Given the description of an element on the screen output the (x, y) to click on. 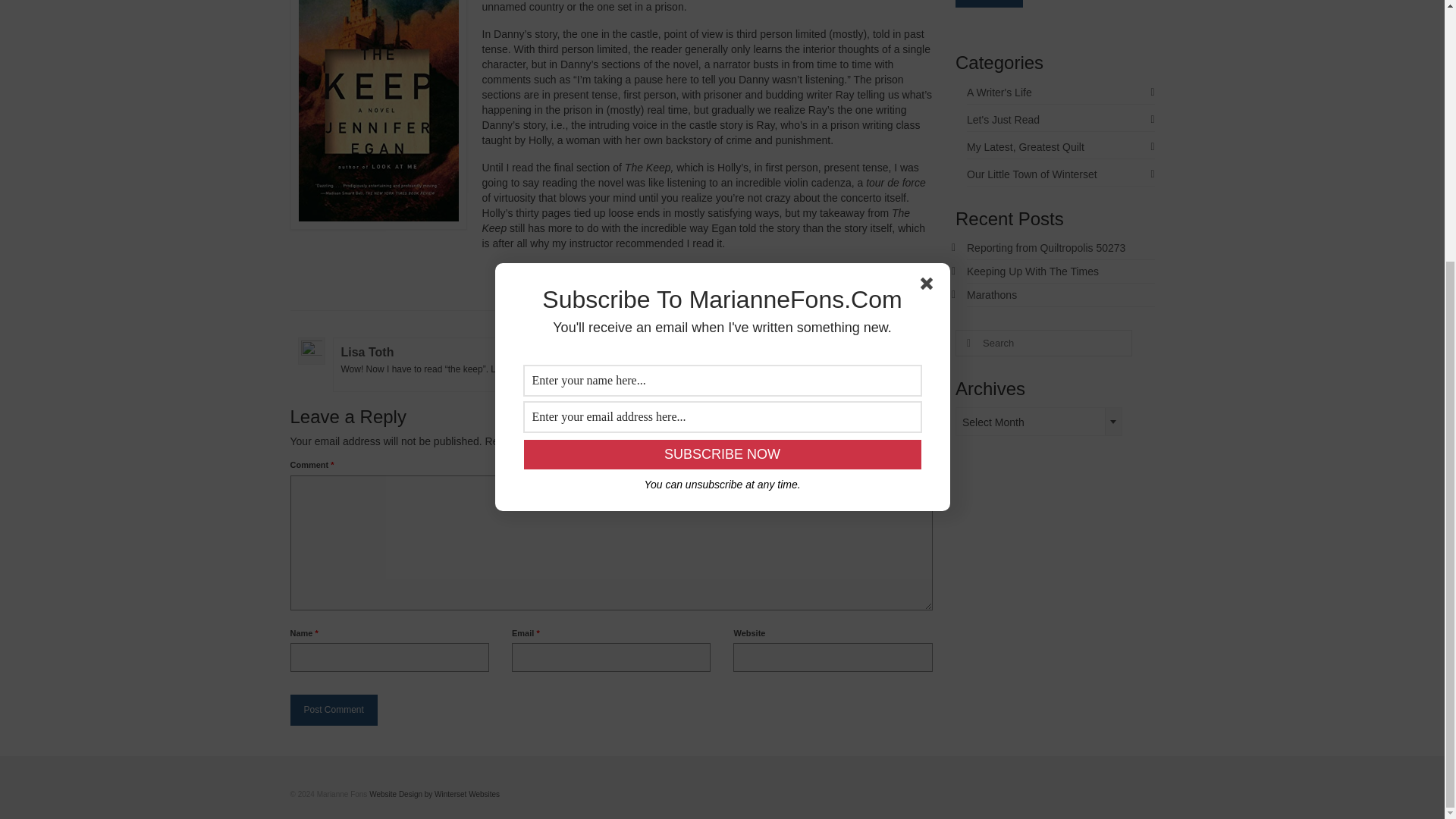
Subscribe Now (721, 79)
Reply (906, 350)
A Writer's Life (1060, 92)
Select Month (1038, 421)
Keeping Up With The Times (1032, 271)
Subscribe (989, 3)
Subscribe Now (721, 79)
Let's Just Read (1060, 119)
Post Comment (333, 709)
Subscribe (989, 3)
Our Little Town of Winterset (1060, 174)
Website Design by Winterset Websites (434, 794)
My Latest, Greatest Quilt (1060, 146)
Reporting from Quiltropolis 50273 (1045, 247)
Marathons (991, 295)
